Given the description of an element on the screen output the (x, y) to click on. 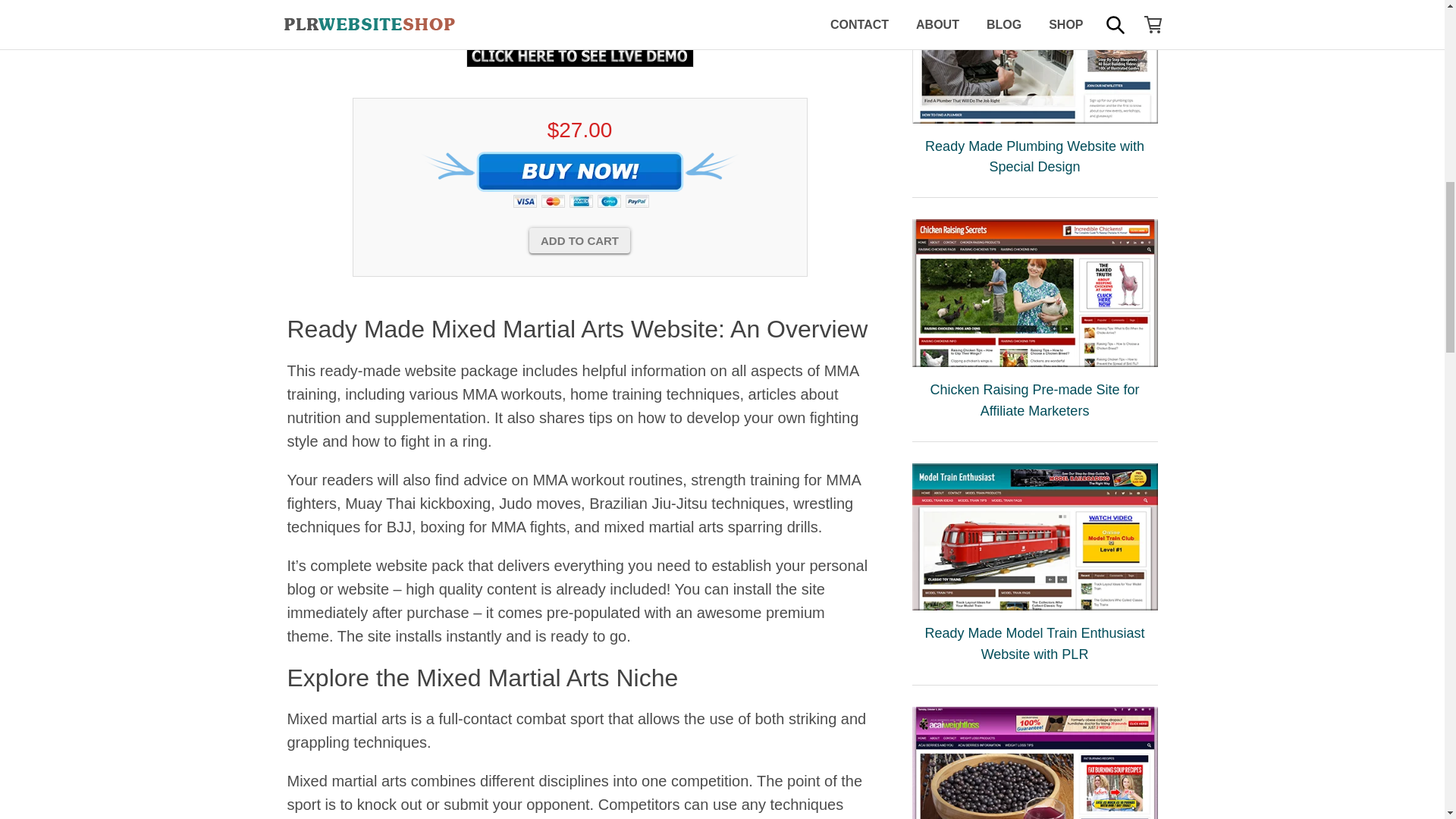
Add to Cart (579, 240)
Ready Made Mixed Martial Arts Website Complete with Content (580, 15)
Ready Made Model Train Enthusiast Website with PLR (1034, 536)
Add to Cart (579, 240)
Ready Made Plumbing Website with Special Design (1034, 61)
Chicken Raising Pre-made Site for Affiliate Marketers (1034, 292)
Blog Demo (579, 55)
